Given the description of an element on the screen output the (x, y) to click on. 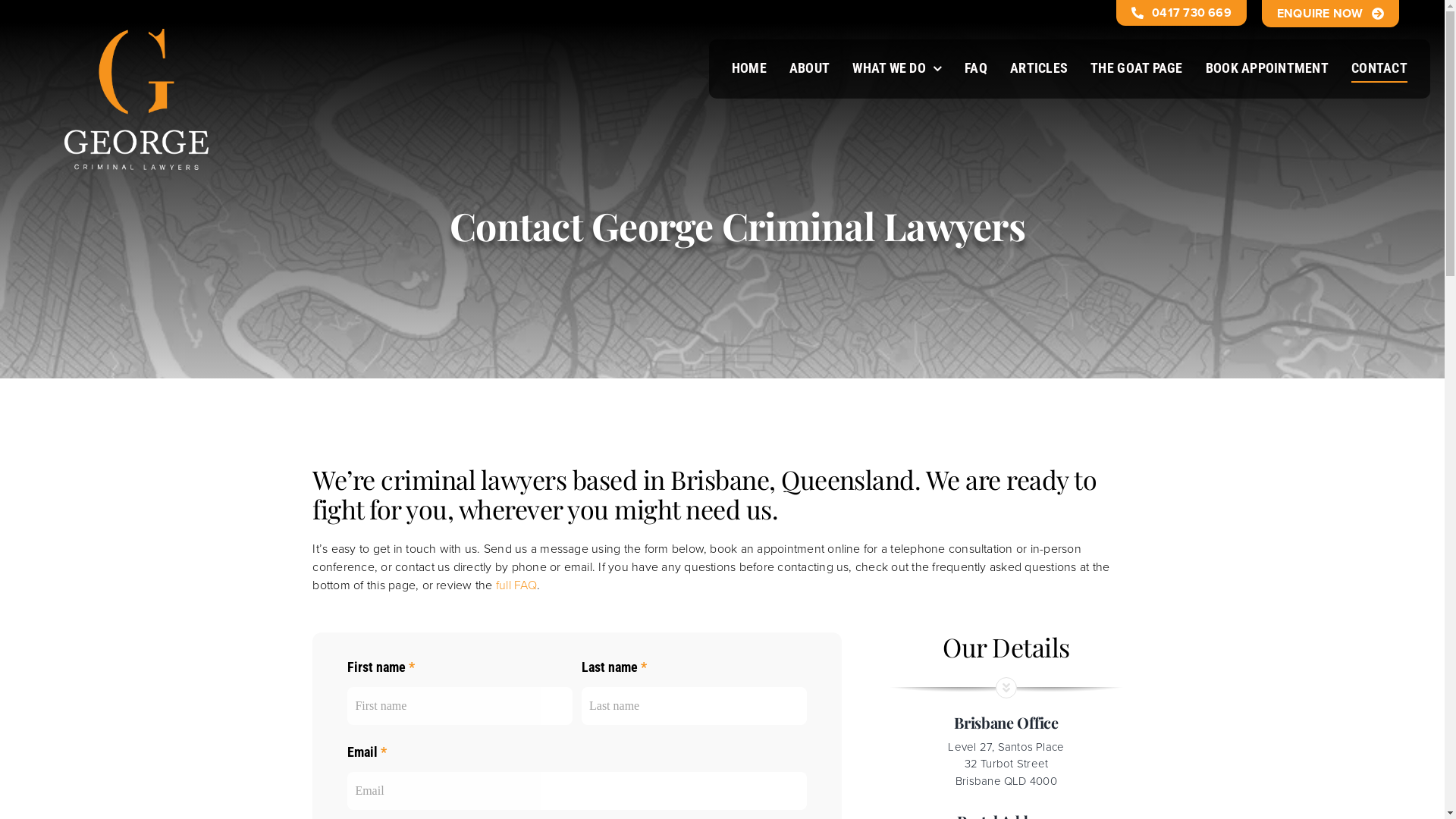
THE GOAT PAGE Element type: text (1136, 68)
ARTICLES Element type: text (1038, 68)
FAQ Element type: text (975, 68)
CONTACT Element type: text (1379, 68)
full FAQ Element type: text (515, 584)
0417 730 669 Element type: text (1181, 12)
WHAT WE DO Element type: text (896, 68)
ENQUIRE NOW Element type: text (1330, 13)
BOOK APPOINTMENT Element type: text (1266, 68)
HOME Element type: text (748, 68)
ABOUT Element type: text (809, 68)
